Given the description of an element on the screen output the (x, y) to click on. 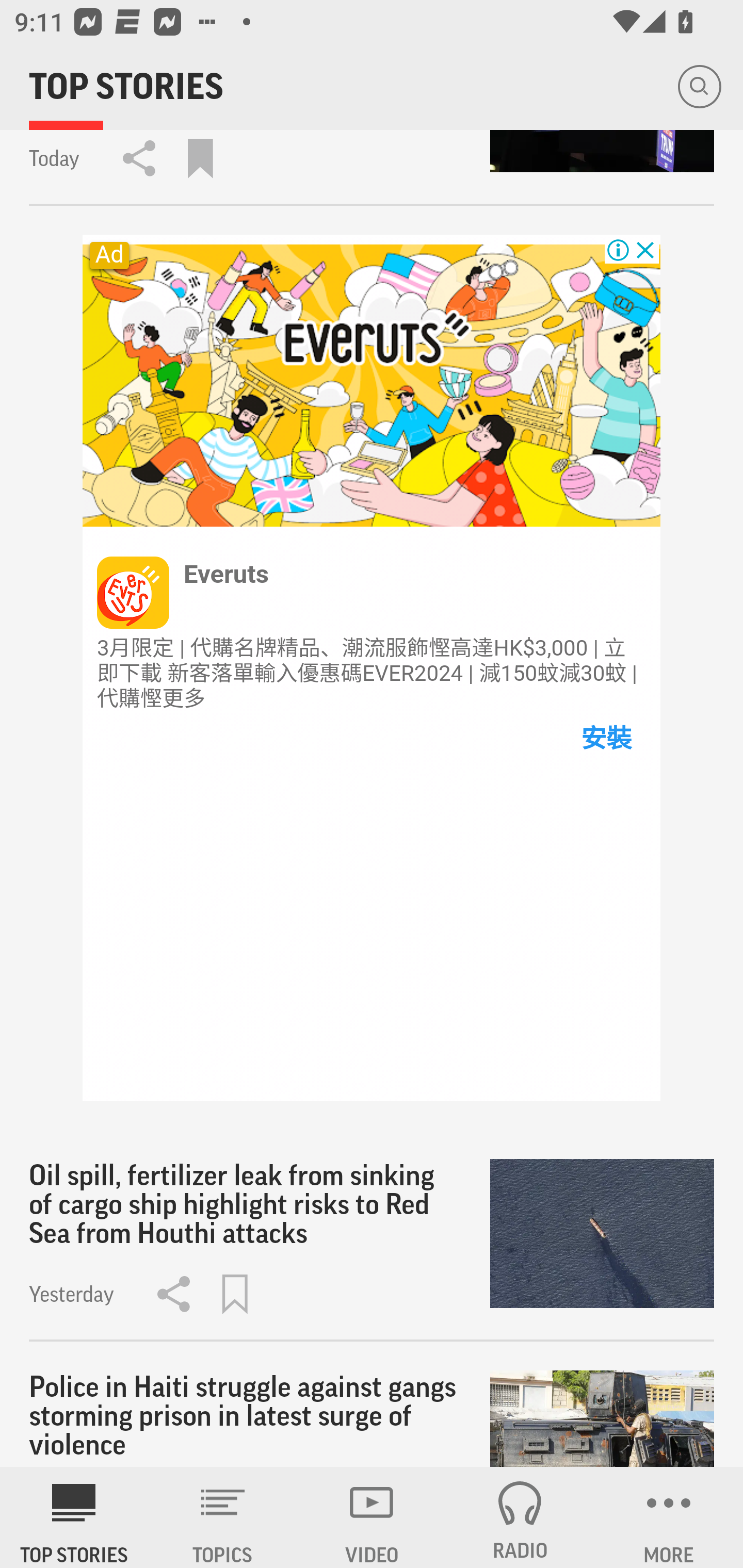
Everuts (226, 573)
安裝 (604, 738)
AP News TOP STORIES (74, 1517)
TOPICS (222, 1517)
VIDEO (371, 1517)
RADIO (519, 1517)
MORE (668, 1517)
